Given the description of an element on the screen output the (x, y) to click on. 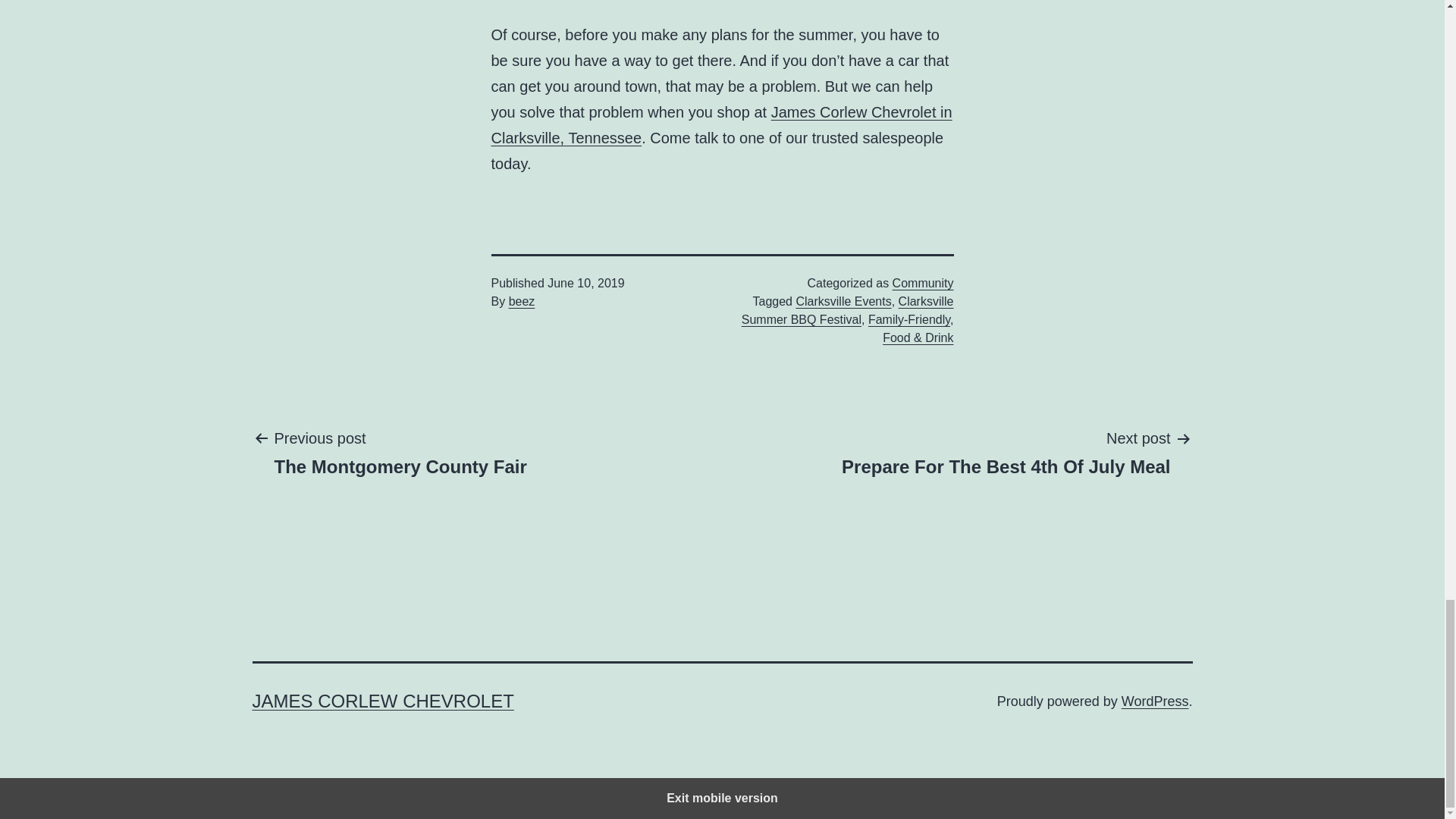
Community (922, 282)
Family-Friendly (908, 318)
JAMES CORLEW CHEVROLET (382, 701)
beez (521, 300)
Clarksville Summer BBQ Festival (1005, 451)
WordPress (847, 309)
James Corlew Chevrolet in Clarksville, Tennessee (399, 451)
Clarksville Events (1155, 701)
